Given the description of an element on the screen output the (x, y) to click on. 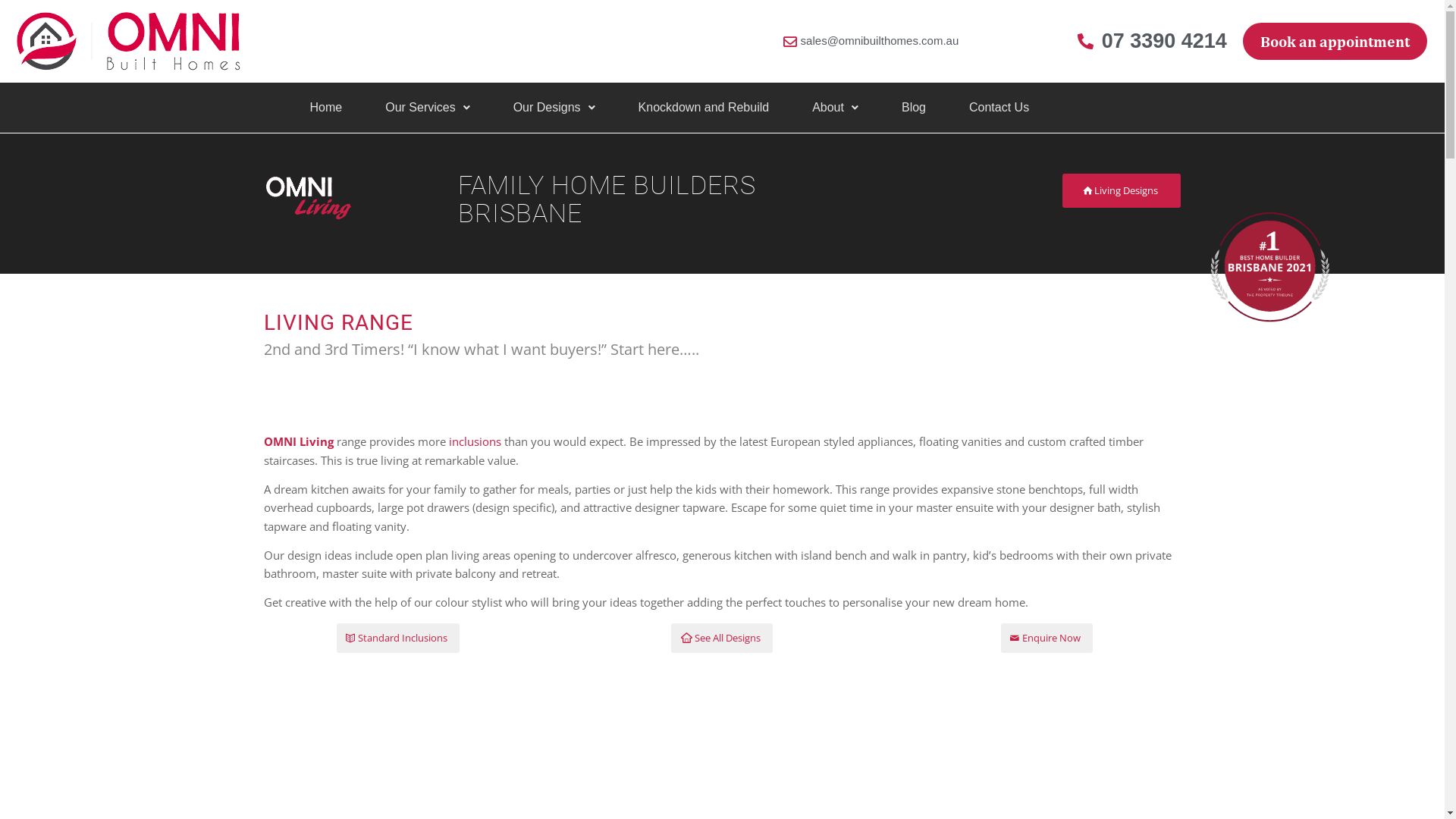
See All Designs Element type: text (721, 637)
sales@omnibuilthomes.com.au Element type: text (868, 40)
Contact Us Element type: text (999, 107)
inclusions Element type: text (474, 440)
Knockdown and Rebuild Element type: text (703, 107)
07 3390 4214 Element type: text (1151, 40)
About Element type: text (835, 107)
Our Services Element type: text (427, 107)
Enquire Now Element type: text (1046, 637)
Home Element type: text (325, 107)
Book an appointment Element type: text (1334, 41)
Our Designs Element type: text (554, 107)
Standard Inclusions Element type: text (397, 637)
Living Designs Element type: text (1121, 190)
omni living transparent logo Element type: hover (333, 196)
Blog Element type: text (913, 107)
